Given the description of an element on the screen output the (x, y) to click on. 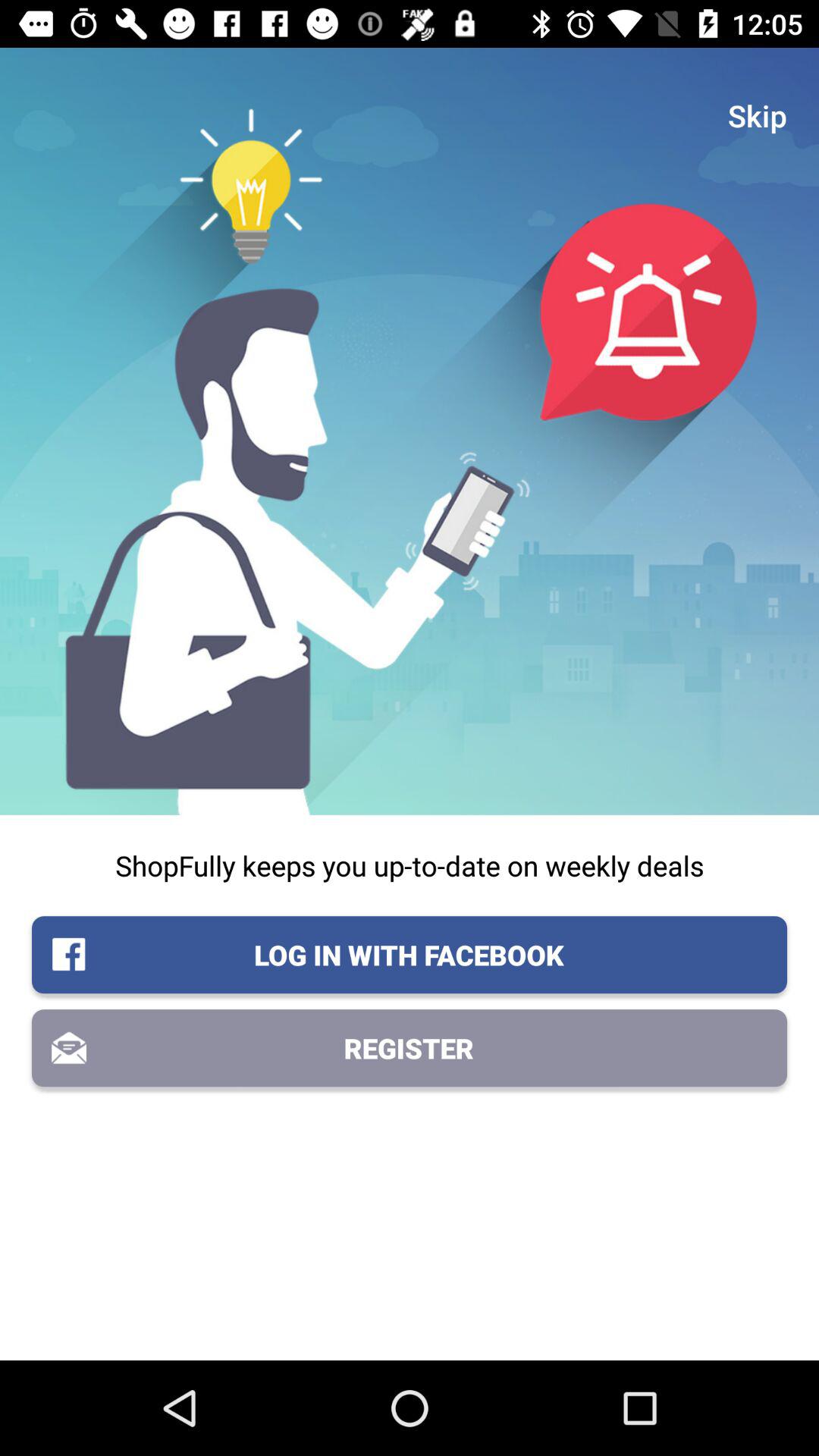
click the item at the top right corner (757, 115)
